Given the description of an element on the screen output the (x, y) to click on. 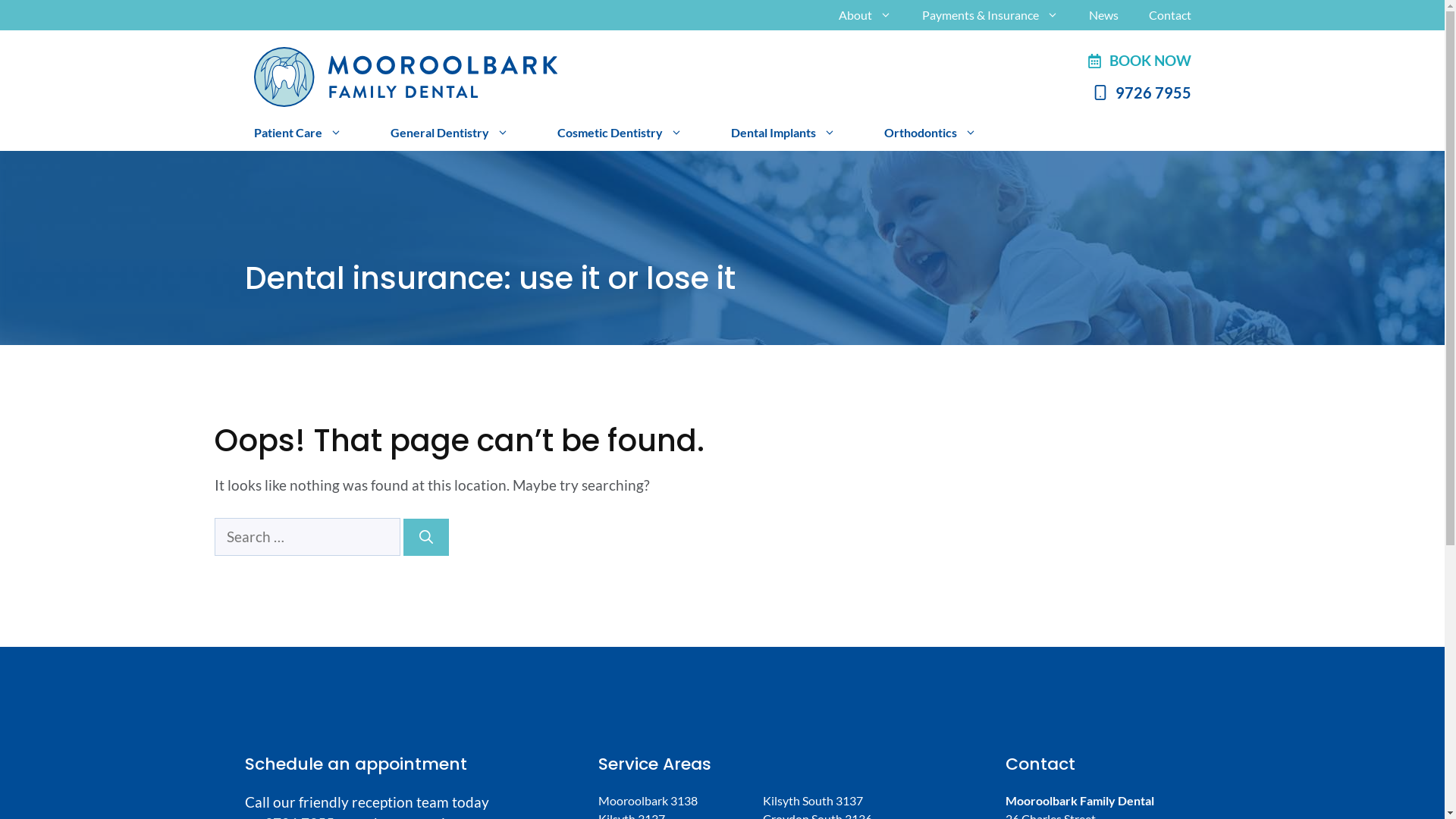
Search for: Element type: hover (306, 536)
Payments & Insurance Element type: text (989, 15)
BOOK NOW Element type: text (1136, 60)
Orthodontics Element type: text (930, 131)
General Dentistry Element type: text (448, 131)
Patient Care Element type: text (297, 131)
Cosmetic Dentistry Element type: text (619, 131)
Contact Element type: text (1168, 15)
About Element type: text (864, 15)
News Element type: text (1103, 15)
Dental Implants Element type: text (782, 131)
9726 7955 Element type: text (1136, 91)
